Given the description of an element on the screen output the (x, y) to click on. 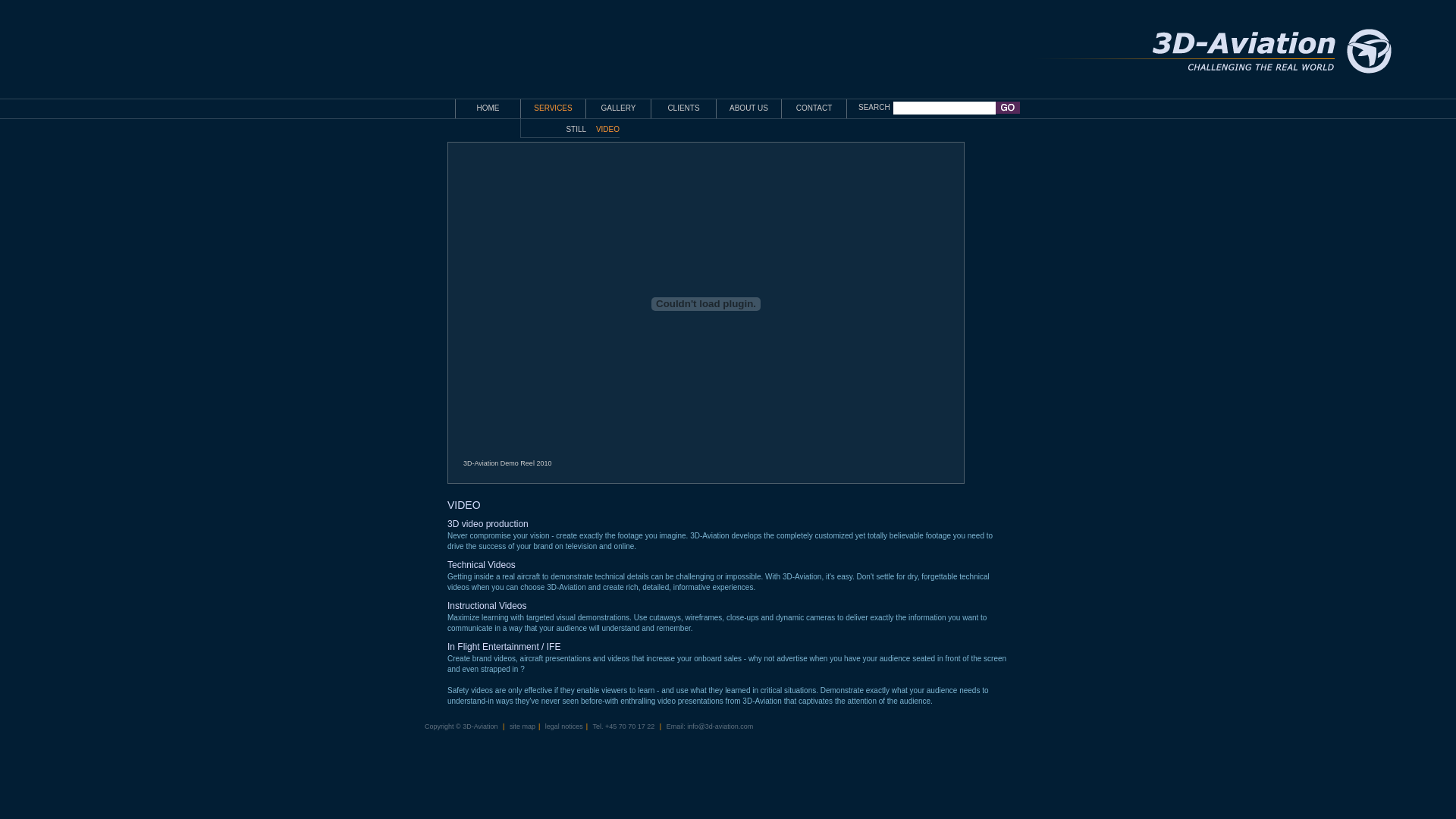
ABOUT US Element type: text (748, 108)
SERVICES Element type: text (552, 108)
VIDEO Element type: text (607, 129)
legal notices Element type: text (564, 726)
site map Element type: text (522, 726)
Email: info@3d-aviation.com Element type: text (708, 726)
HOME Element type: text (487, 108)
CLIENTS Element type: text (683, 108)
CONTACT Element type: text (813, 108)
GALLERY Element type: text (618, 108)
STILL Element type: text (575, 129)
